Given the description of an element on the screen output the (x, y) to click on. 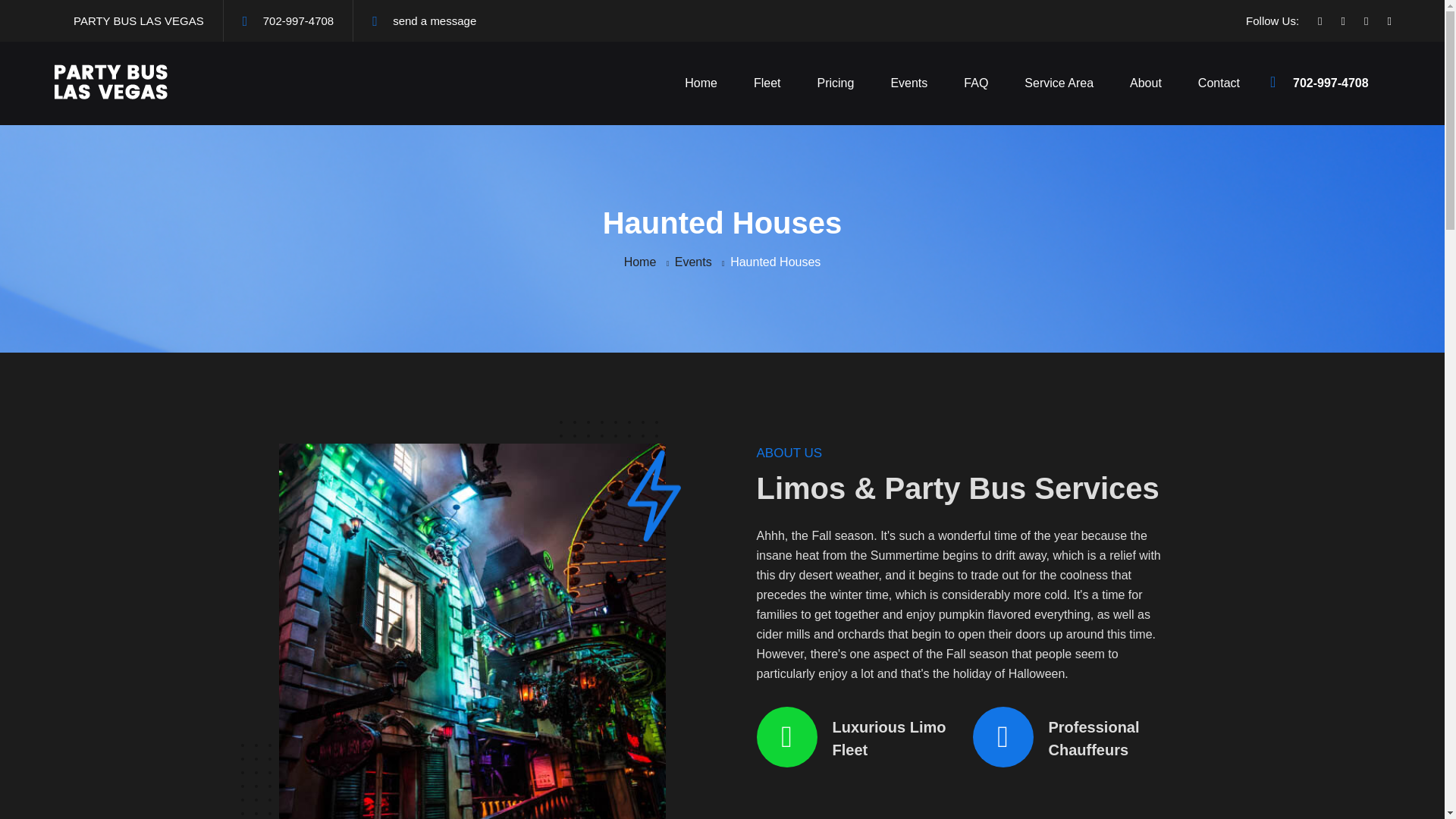
702-997-4708 (1341, 83)
702-997-4708 (298, 21)
send a message (434, 21)
